Given the description of an element on the screen output the (x, y) to click on. 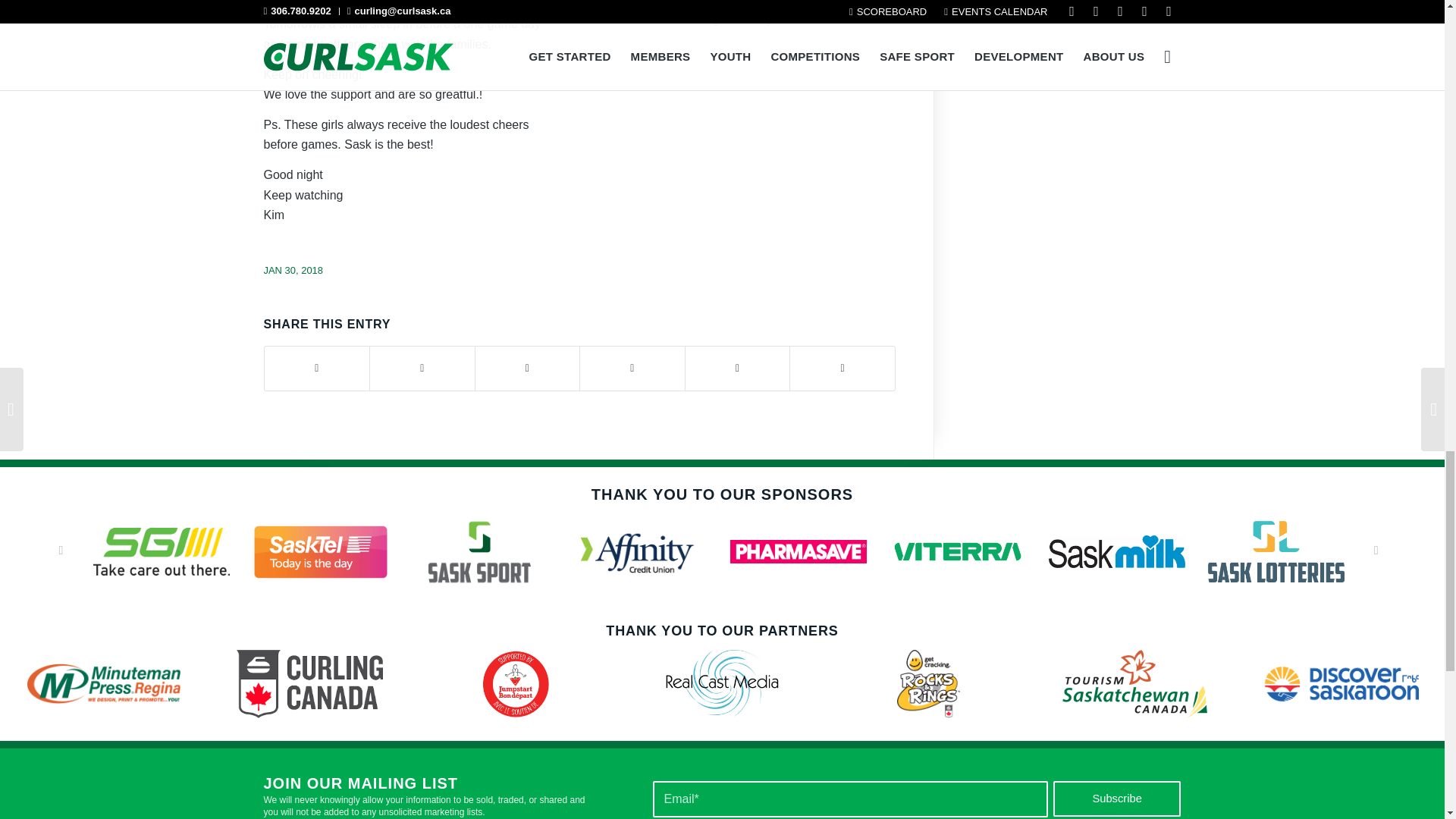
Subscribe (1116, 798)
